Given the description of an element on the screen output the (x, y) to click on. 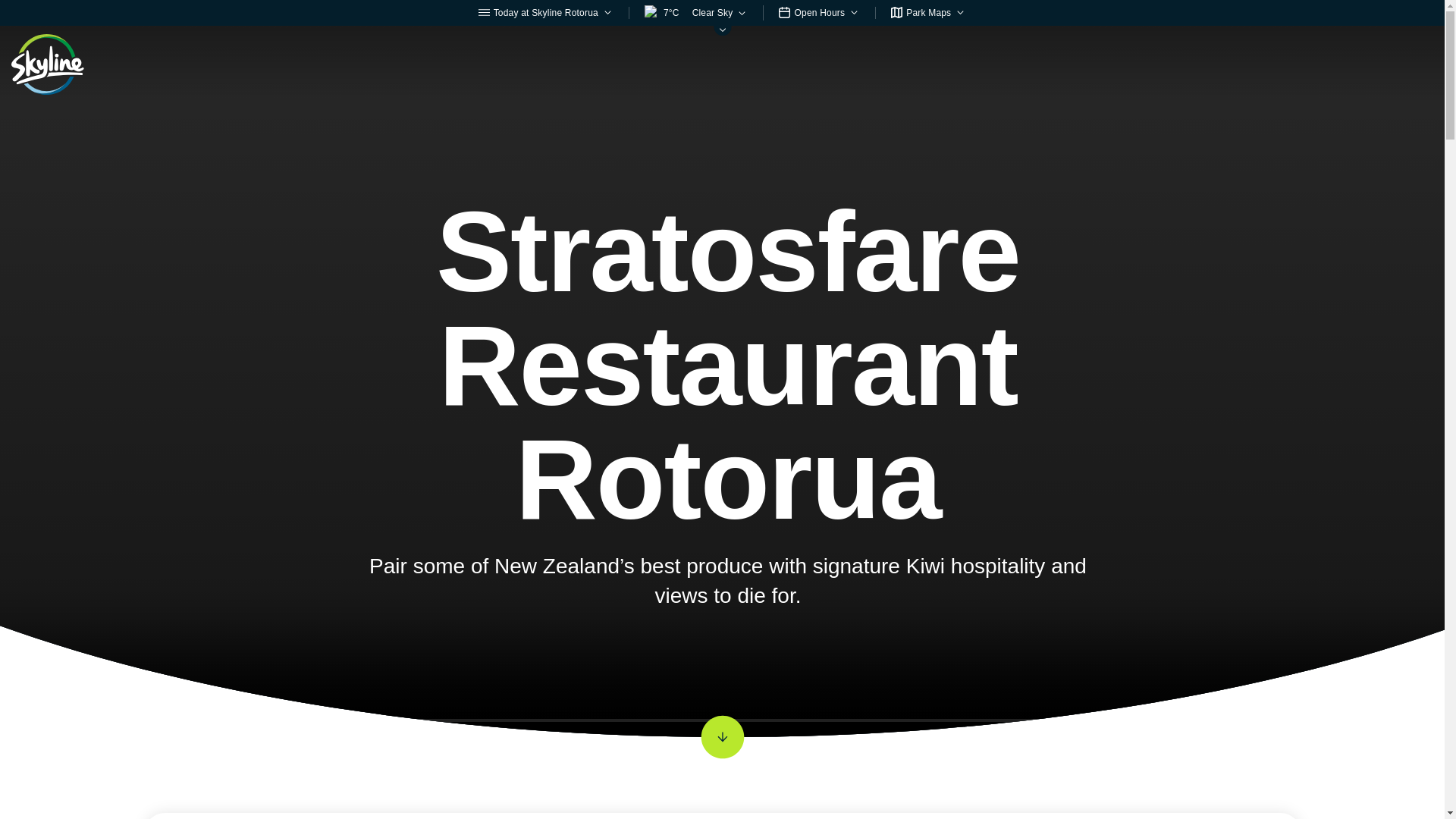
Opening Hours (742, 816)
Stratosfare Pricing (612, 816)
About the Stratosfare Restaurant (433, 816)
Christmas Day (972, 816)
New Years (1075, 816)
Christmas Eve (857, 816)
